Given the description of an element on the screen output the (x, y) to click on. 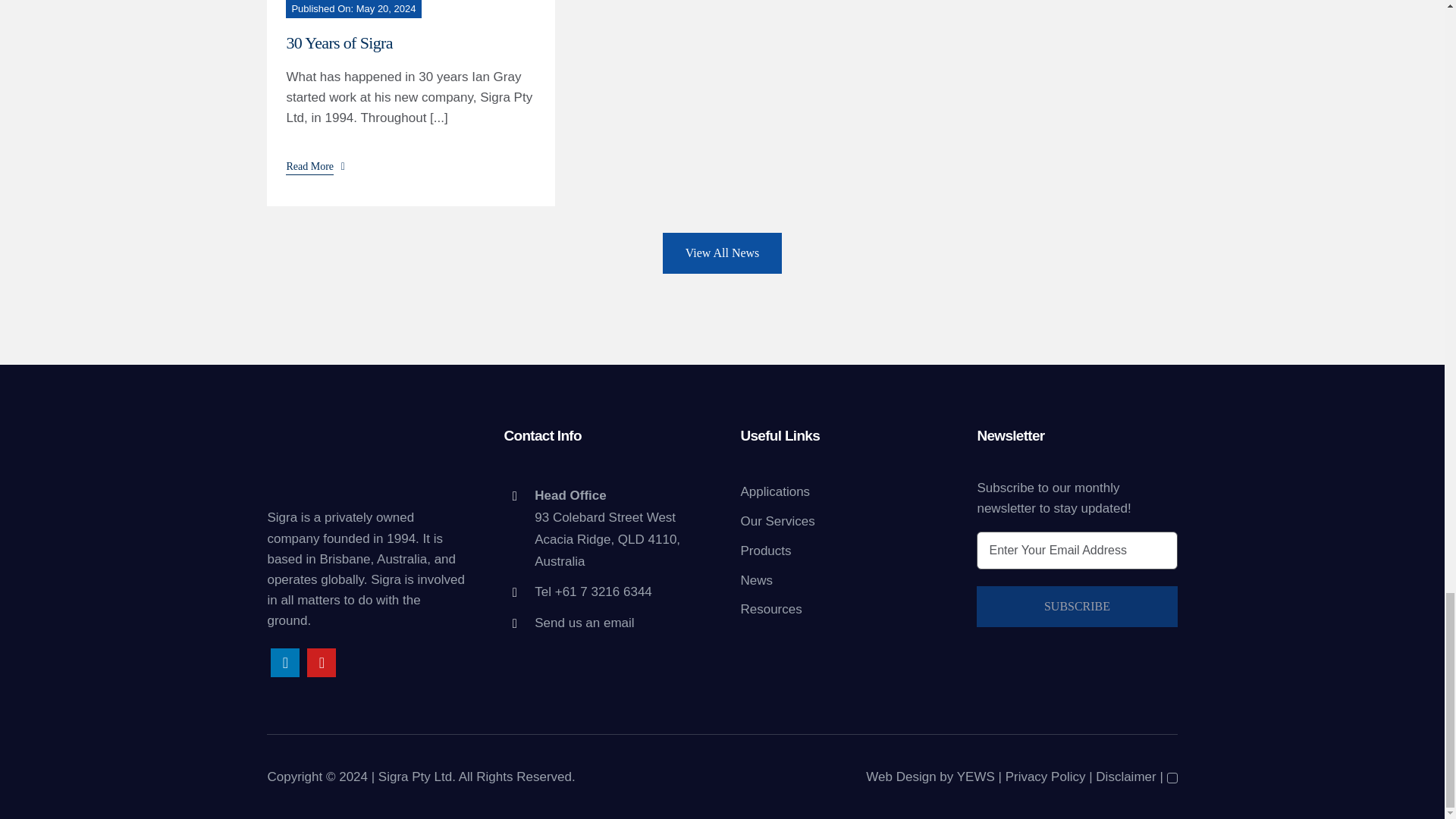
LinkedIn (284, 662)
YouTube (321, 662)
4 (366, 458)
Subscribe (1076, 606)
